Given the description of an element on the screen output the (x, y) to click on. 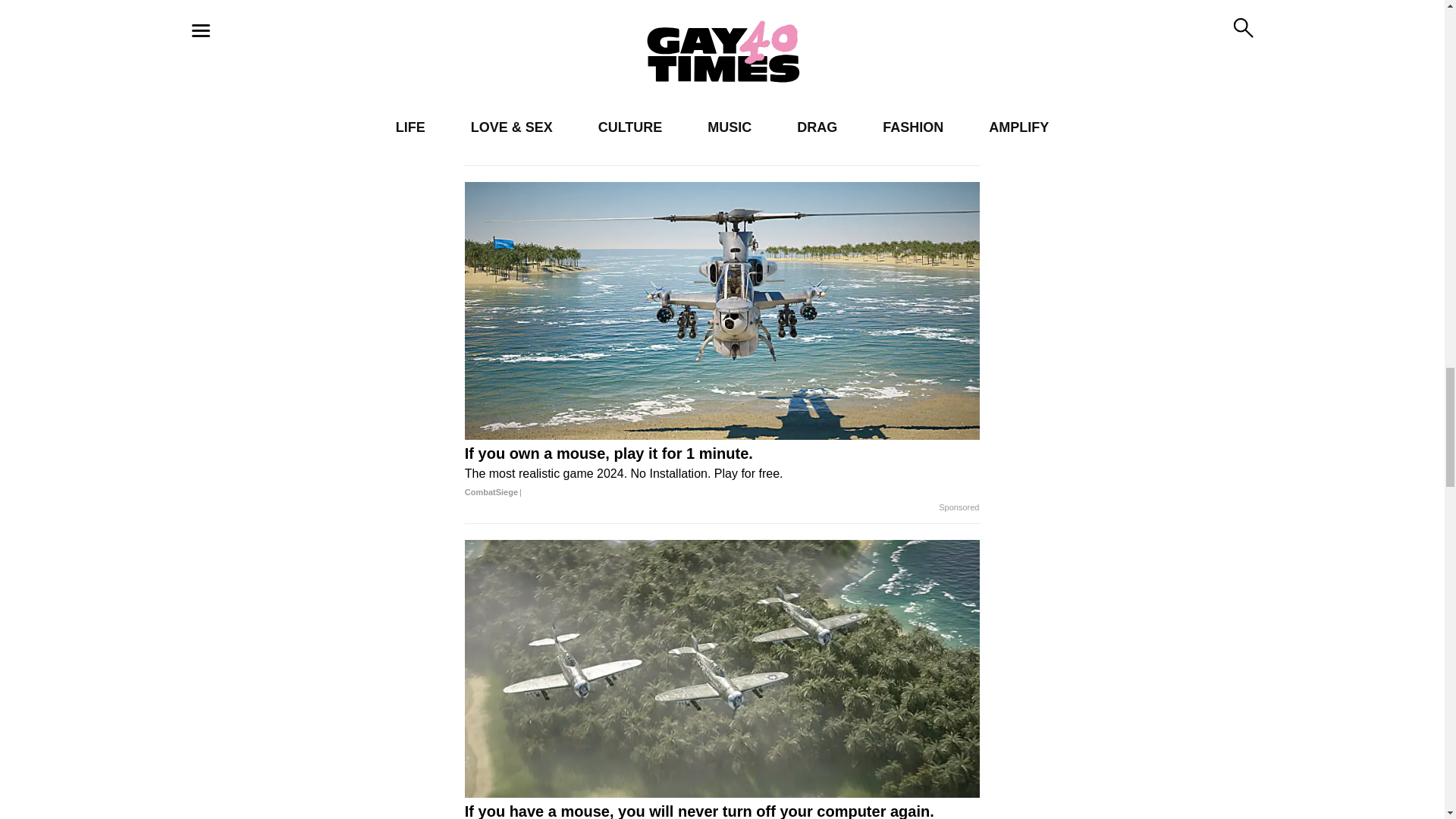
Susan Boyle Is Now so Thin and Looks Beautiful! (590, 115)
If you own a mouse, play it for 1 minute. (721, 472)
